Given the description of an element on the screen output the (x, y) to click on. 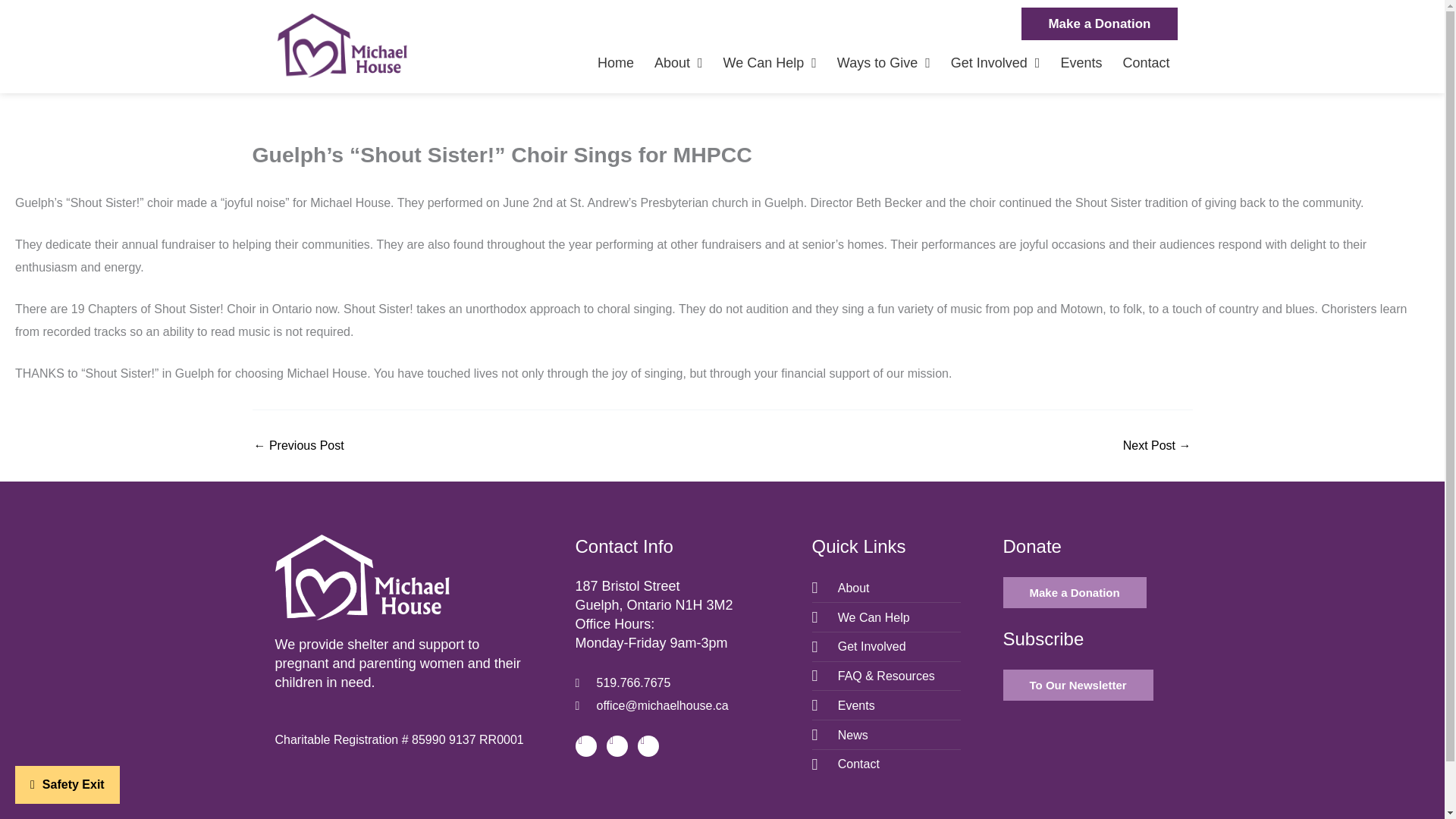
Contact (1145, 62)
Make a Donation (1099, 23)
Events (1080, 62)
About (678, 62)
Reno Da Maren Memorial Car Show Supports MH (1156, 445)
Ways to Give (883, 62)
Get Involved (995, 62)
We Can Help (769, 62)
Home (614, 62)
HomeLife Realty Garage Sale (298, 445)
Safety Exit (66, 784)
